Given the description of an element on the screen output the (x, y) to click on. 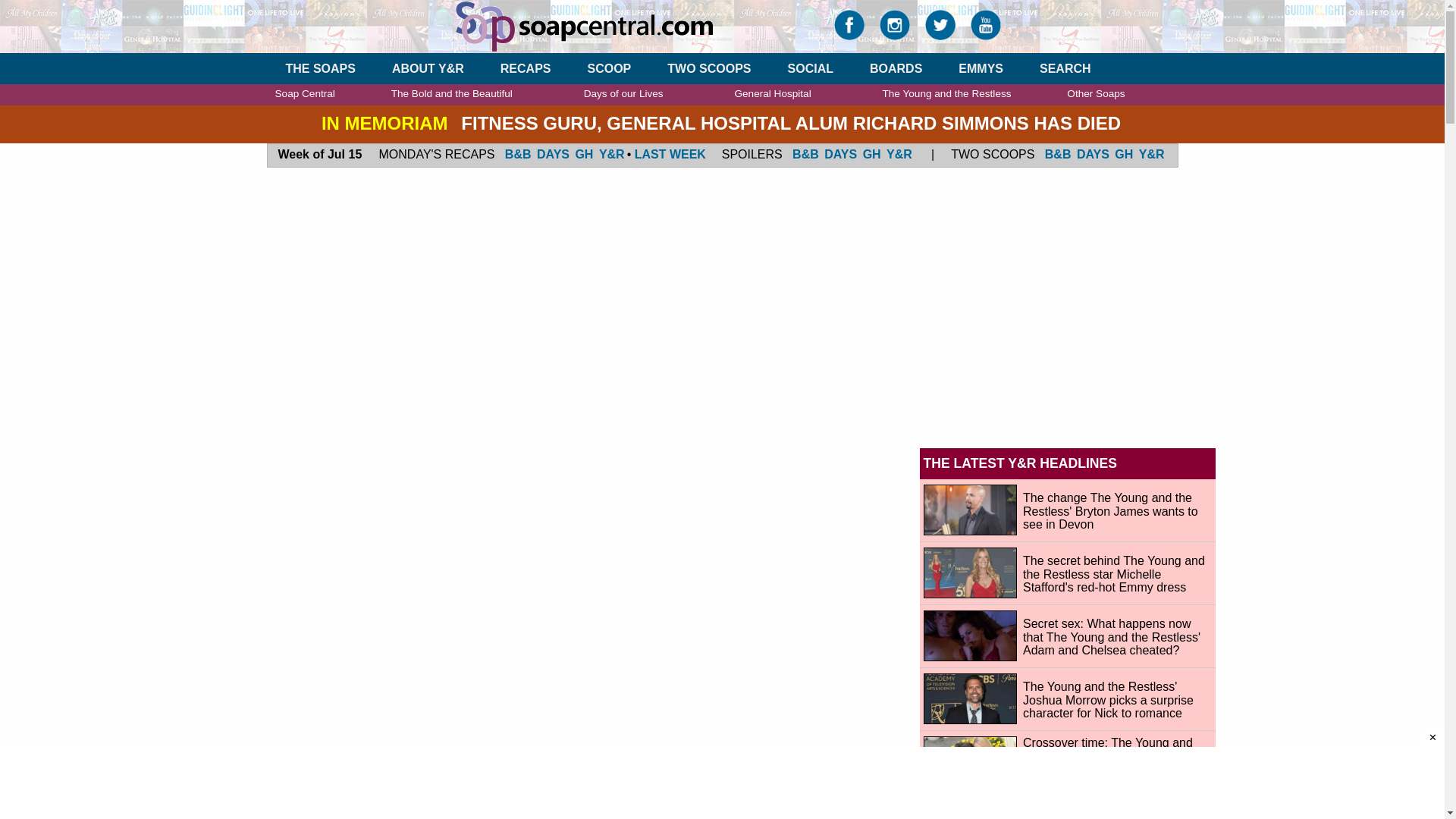
Soap Central (631, 25)
THE SOAPS (320, 68)
RECAPS (525, 68)
Facebook (849, 28)
YouTube (985, 28)
TWO SCOOPS (708, 68)
SCOOP (608, 68)
